Given the description of an element on the screen output the (x, y) to click on. 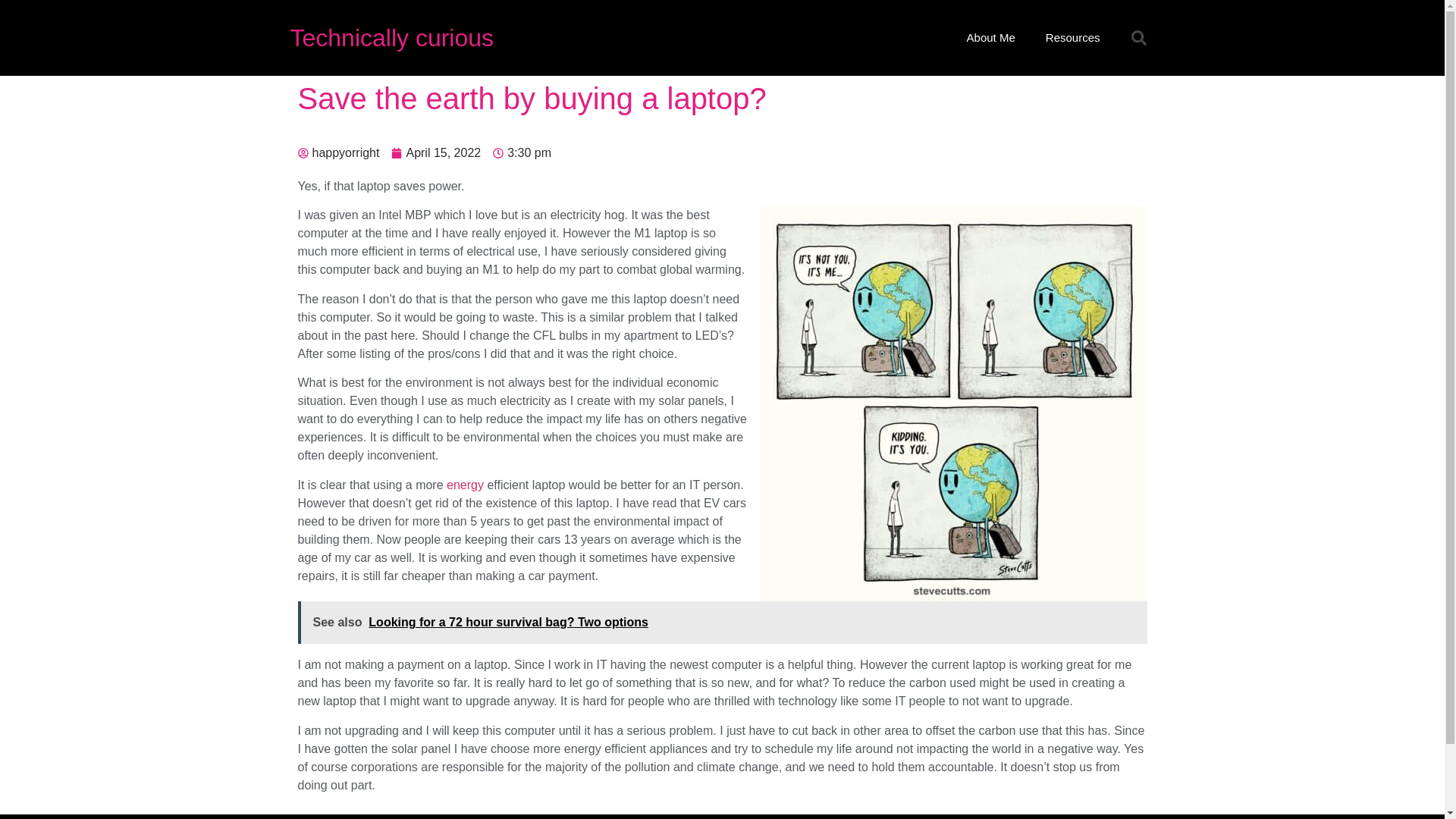
Technically curious (391, 37)
Resources (1072, 38)
energy (464, 484)
happyorright (337, 153)
About Me (991, 38)
See also  Looking for a 72 hour survival bag? Two options (722, 622)
April 15, 2022 (435, 153)
